Given the description of an element on the screen output the (x, y) to click on. 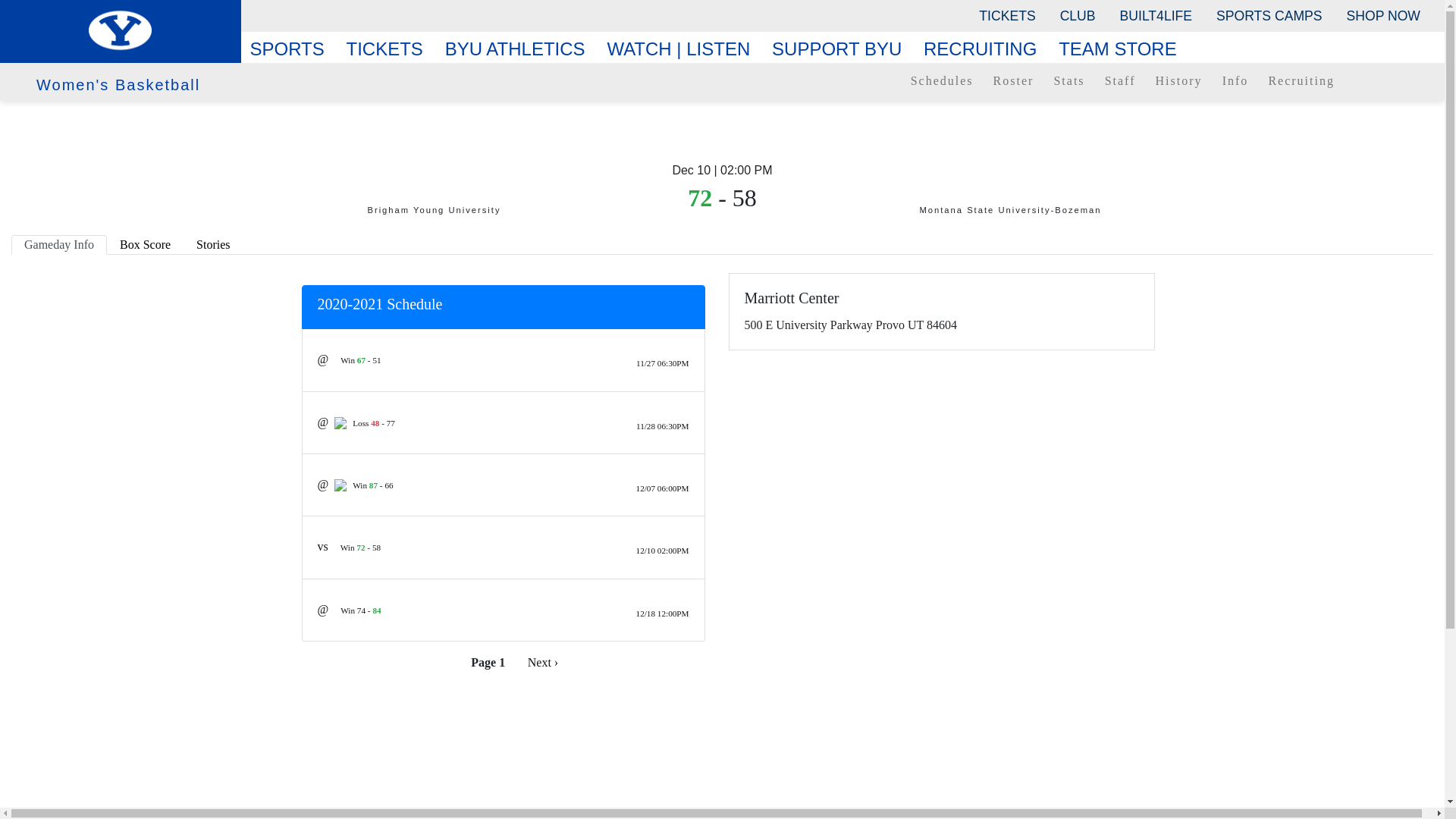
BUILT4LIFE (1156, 15)
SPORTS (292, 49)
Go to next page (542, 662)
SHOP NOW (1383, 15)
SPORTS CAMPS (1268, 15)
CLUB (1078, 15)
TICKETS (1006, 15)
